Given the description of an element on the screen output the (x, y) to click on. 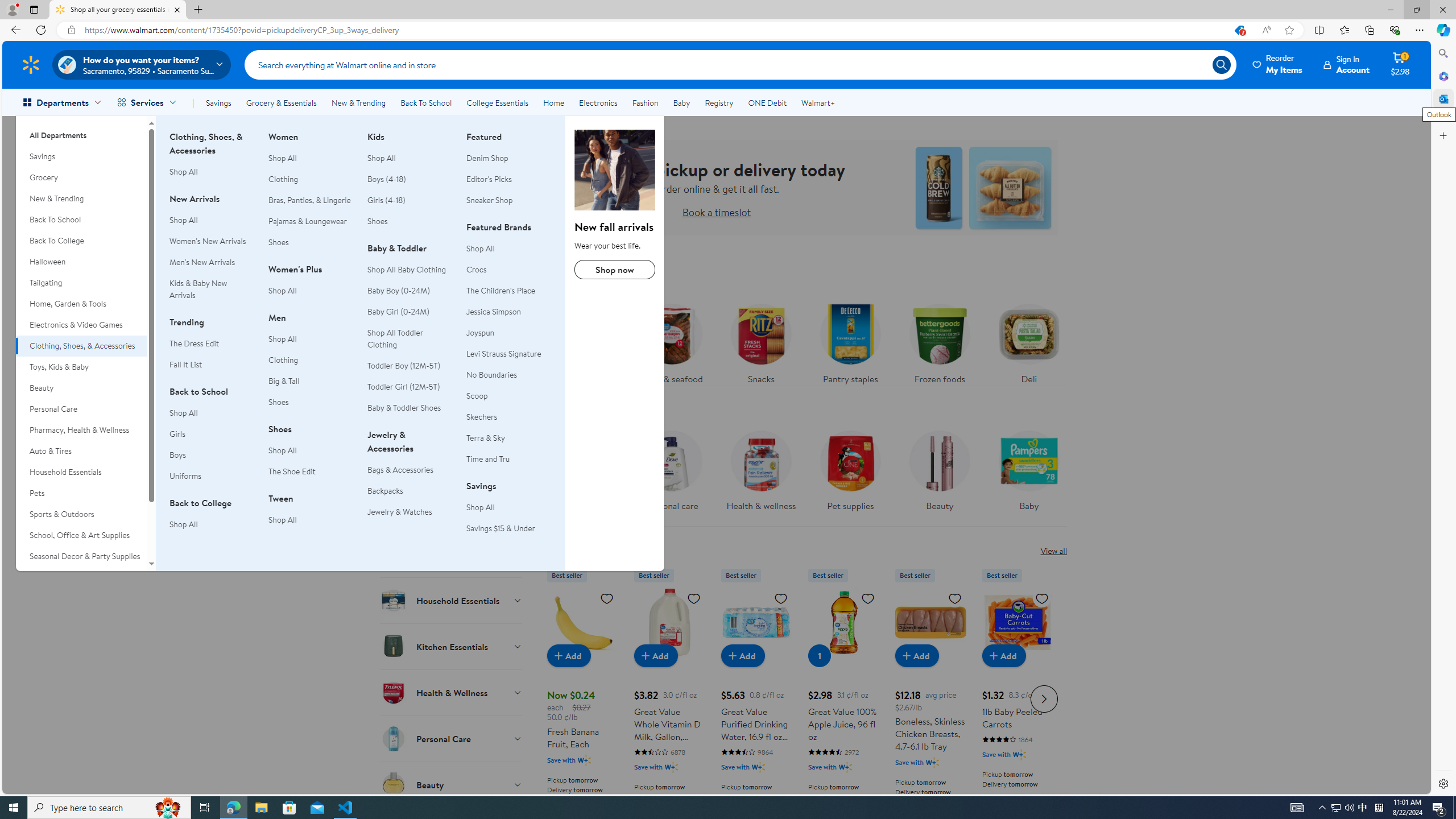
Boys (211, 455)
Reorder My Items (1277, 64)
The Dress Edit (193, 342)
Joyspun (508, 332)
School, Office & Art Supplies (81, 535)
Seasonal Decor & Party Supplies (81, 556)
Personal Care (81, 408)
Women's New Arrivals (211, 241)
Baby & Toddler Shoes (409, 408)
New & Trending (358, 102)
Baby (1028, 467)
Movies, Music & Books (81, 577)
